Given the description of an element on the screen output the (x, y) to click on. 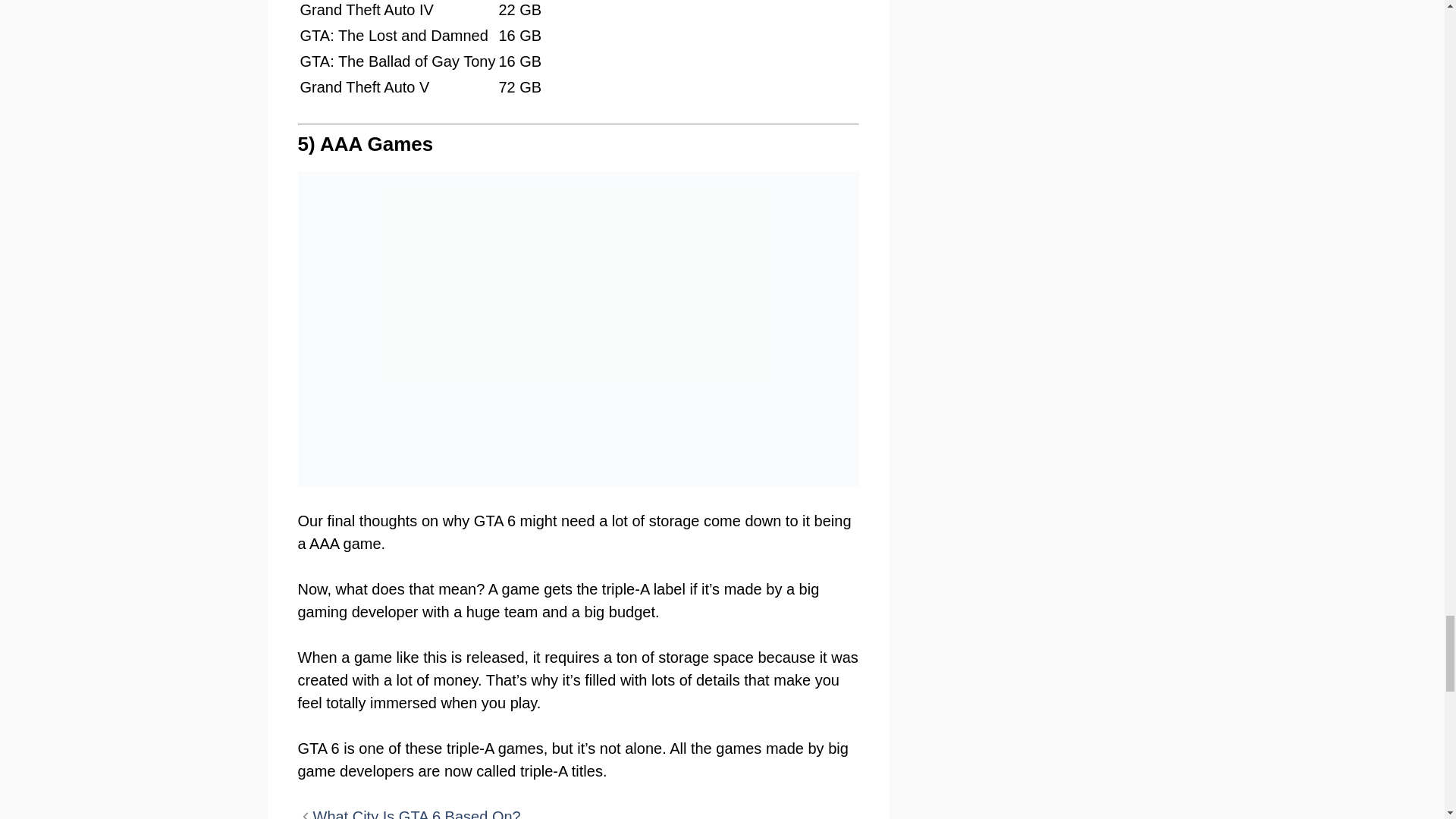
What City Is GTA 6 Based On? (416, 813)
